Given the description of an element on the screen output the (x, y) to click on. 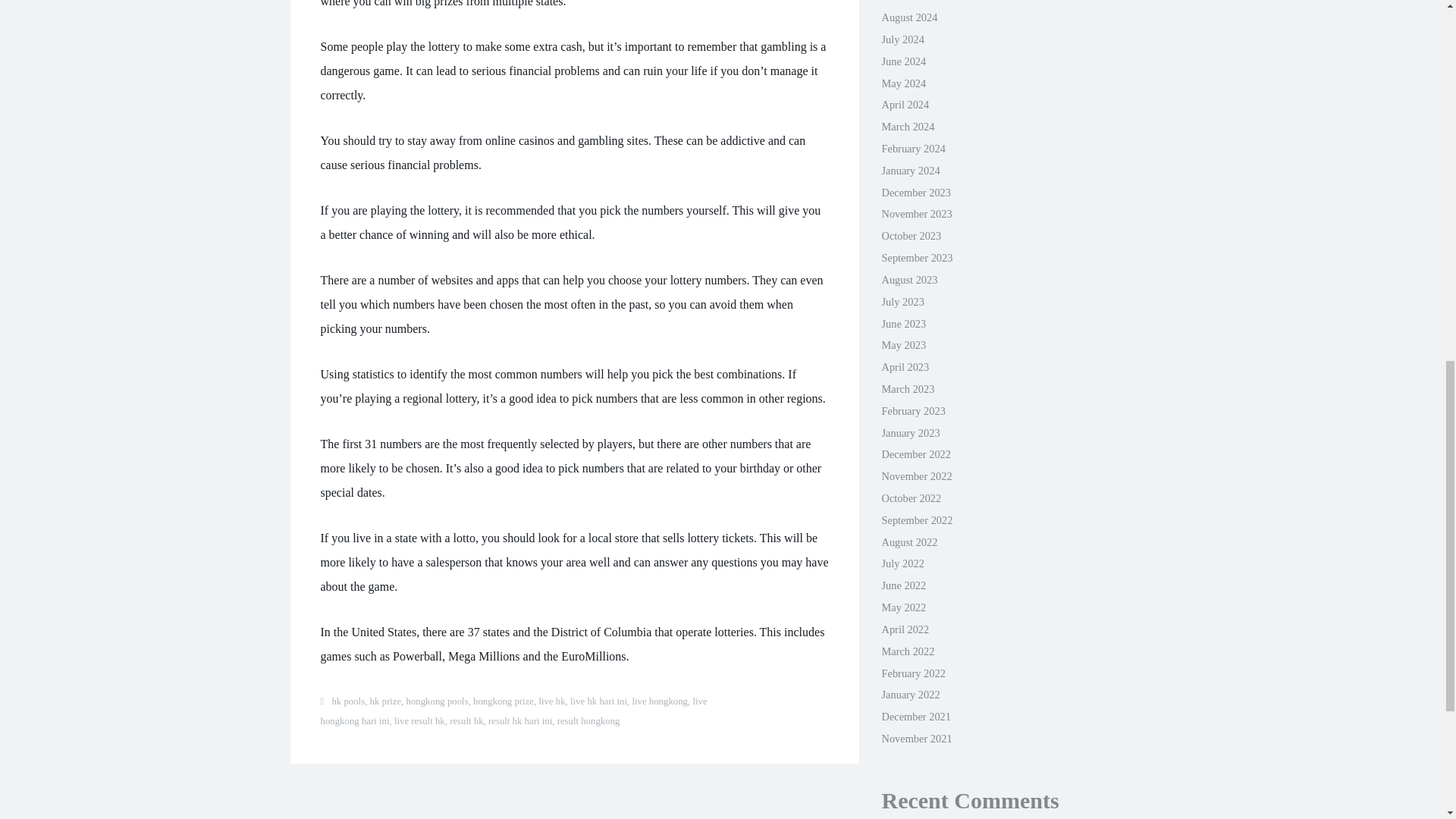
hongkong pools (437, 701)
April 2024 (904, 104)
August 2024 (908, 17)
hk pools (348, 701)
May 2024 (903, 82)
hk prize (385, 701)
live hongkong hari ini (513, 711)
result hongkong (588, 720)
live hk (551, 701)
live result hk (419, 720)
